Given the description of an element on the screen output the (x, y) to click on. 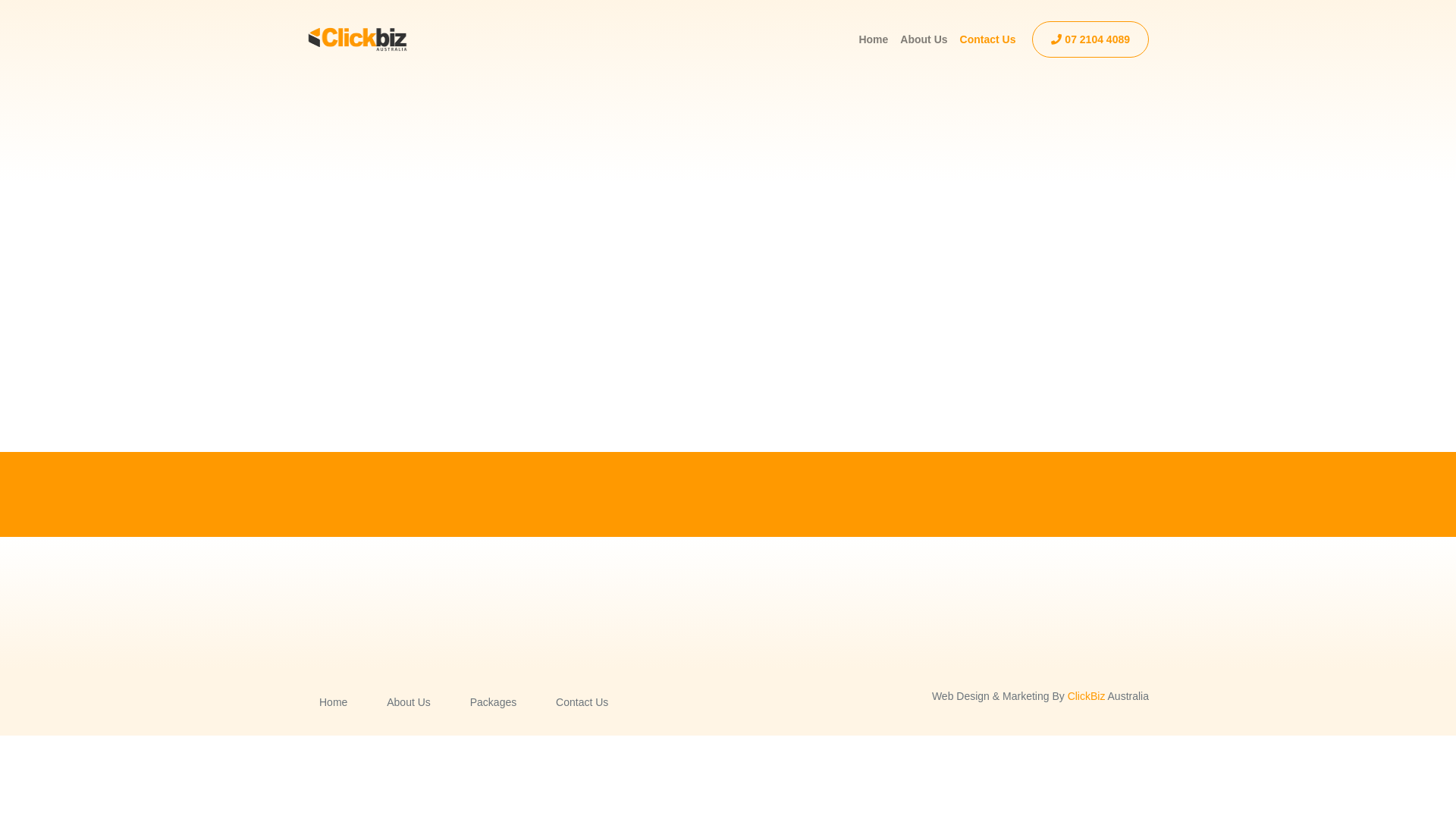
Contact Us Element type: text (581, 702)
Contact Us Element type: text (987, 39)
Home Element type: text (333, 702)
About Us Element type: text (923, 39)
Home Element type: text (873, 39)
ClickBiz Element type: text (1086, 696)
07 2104 4089 Element type: text (1090, 39)
Packages Element type: text (493, 702)
About Us Element type: text (408, 702)
